Given the description of an element on the screen output the (x, y) to click on. 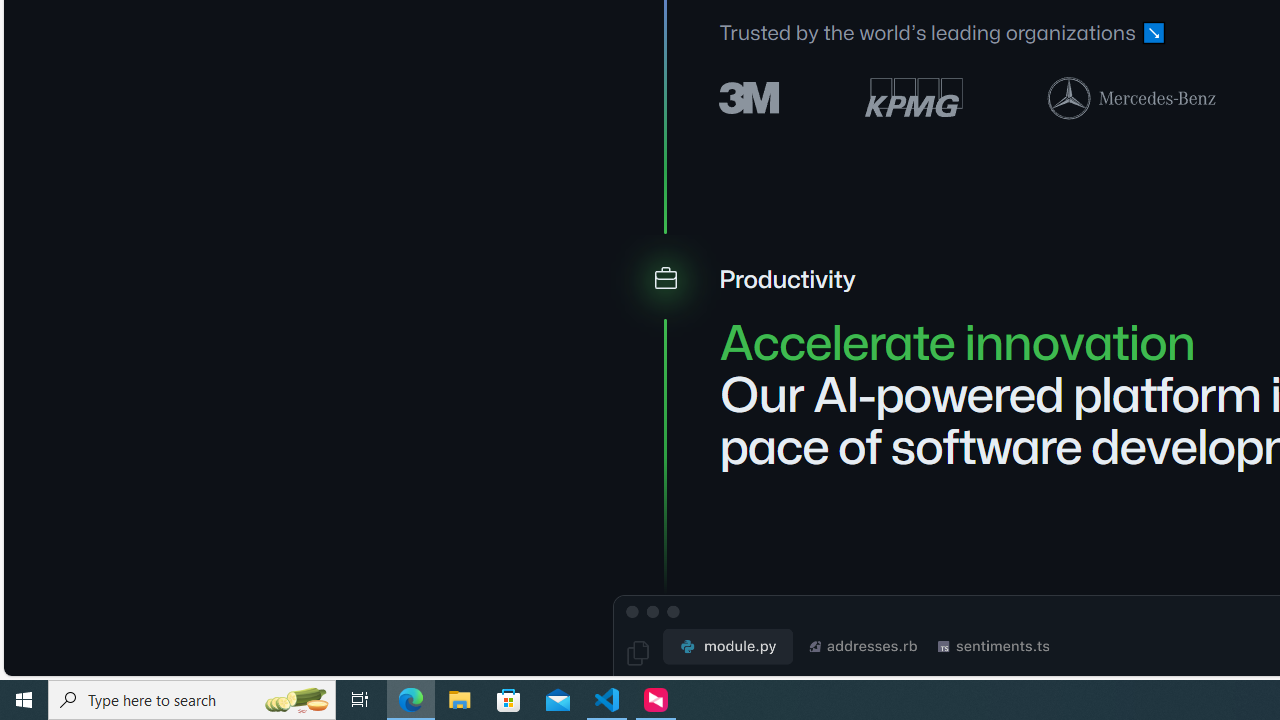
KPMG logo (913, 97)
Mercedes-Benz logo (1132, 97)
3M logo (749, 96)
